Given the description of an element on the screen output the (x, y) to click on. 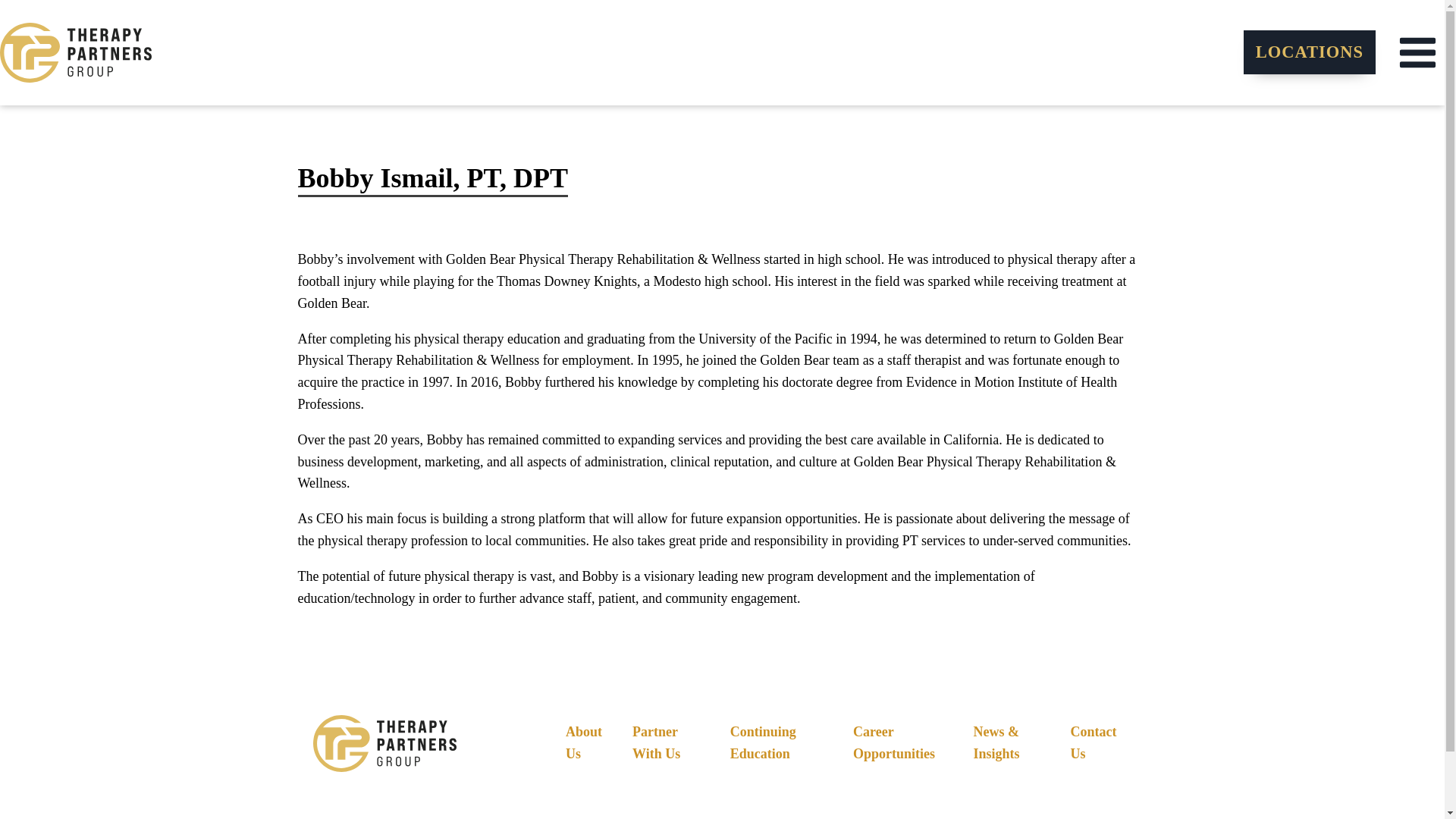
LOCATIONS (1309, 52)
